Given the description of an element on the screen output the (x, y) to click on. 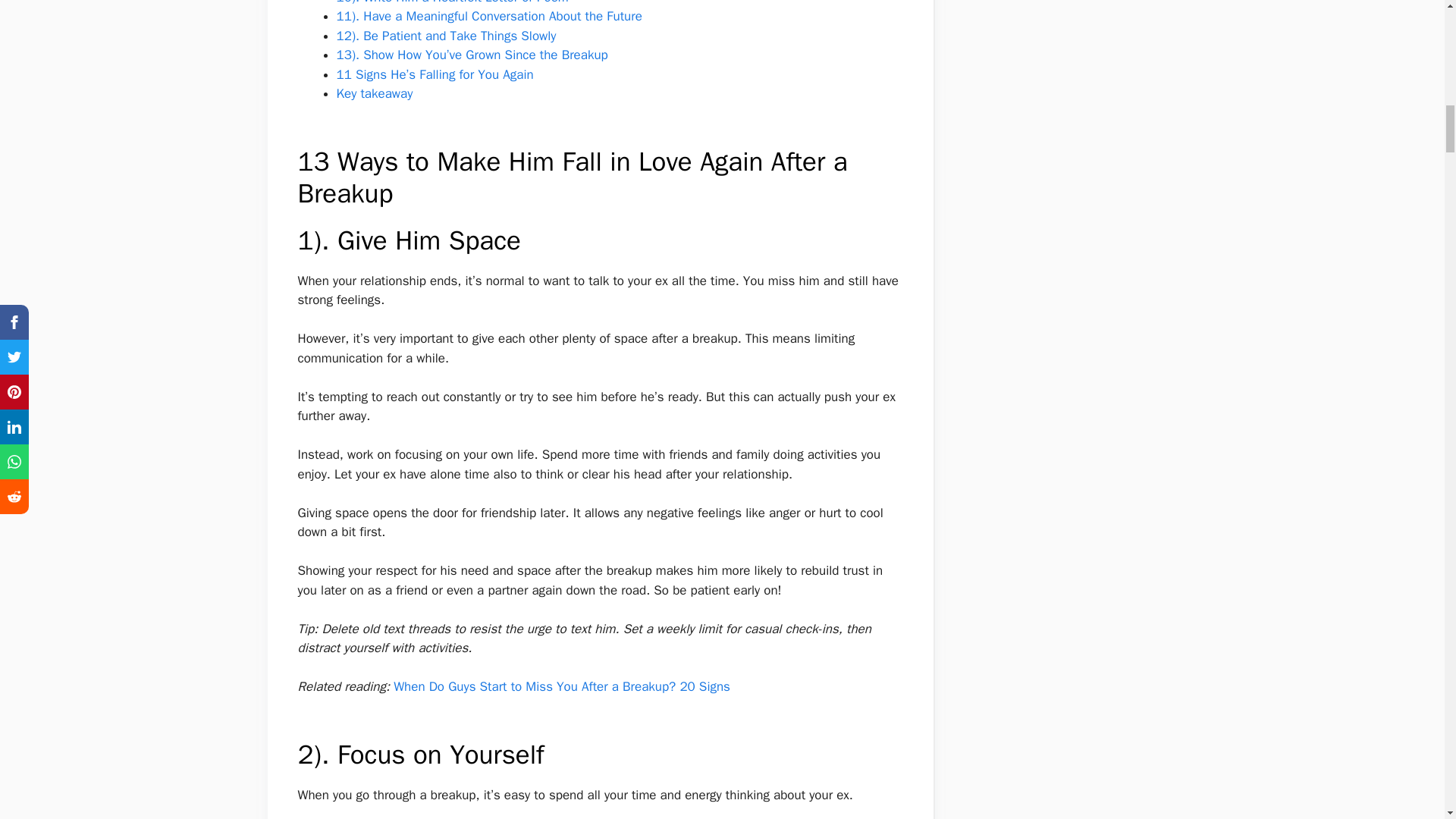
Key takeaway (374, 93)
When Do Guys Start to Miss You After a Breakup? 20 Signs (561, 686)
